Given the description of an element on the screen output the (x, y) to click on. 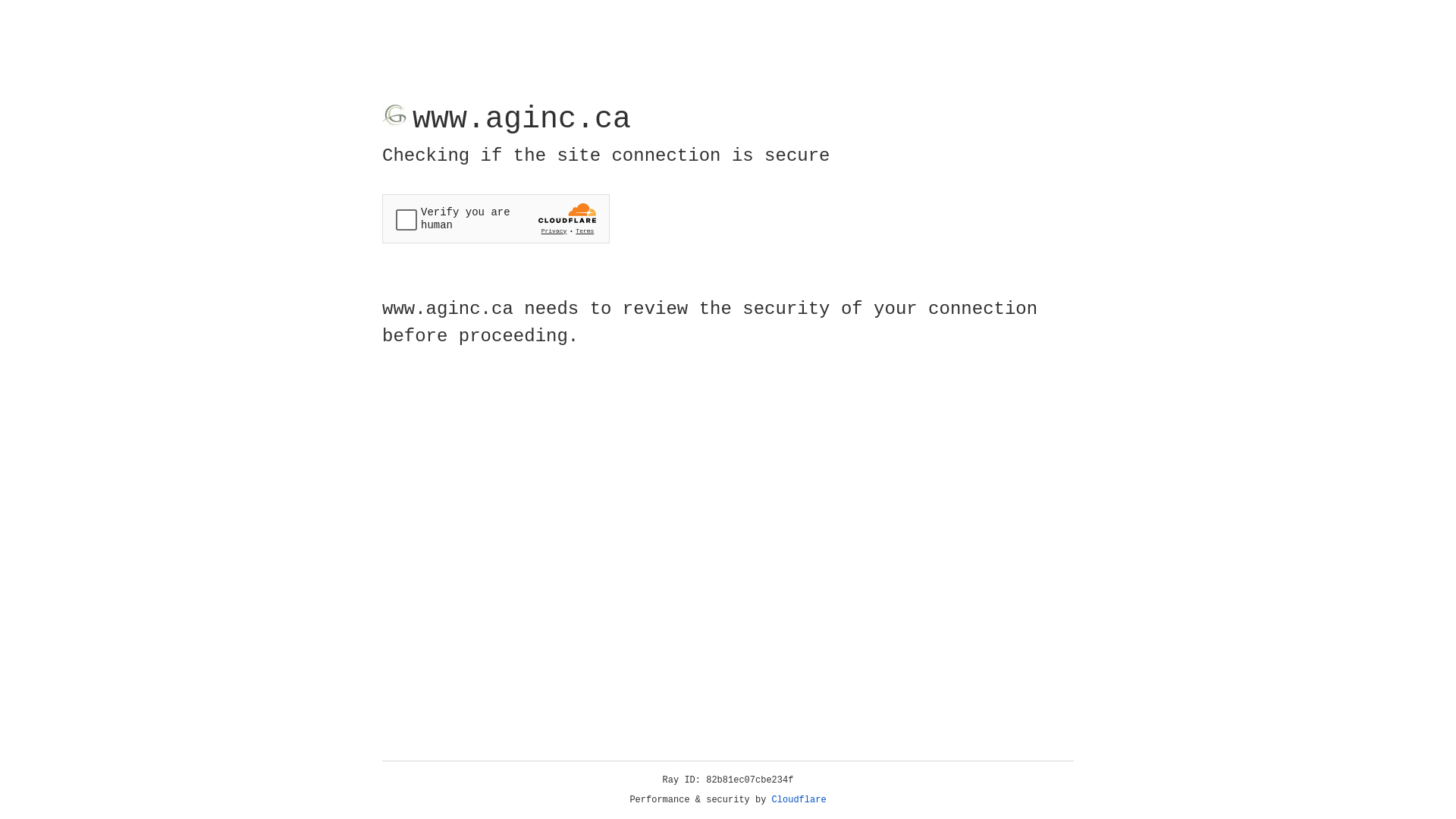
Cloudflare Element type: text (798, 799)
Widget containing a Cloudflare security challenge Element type: hover (495, 218)
